Given the description of an element on the screen output the (x, y) to click on. 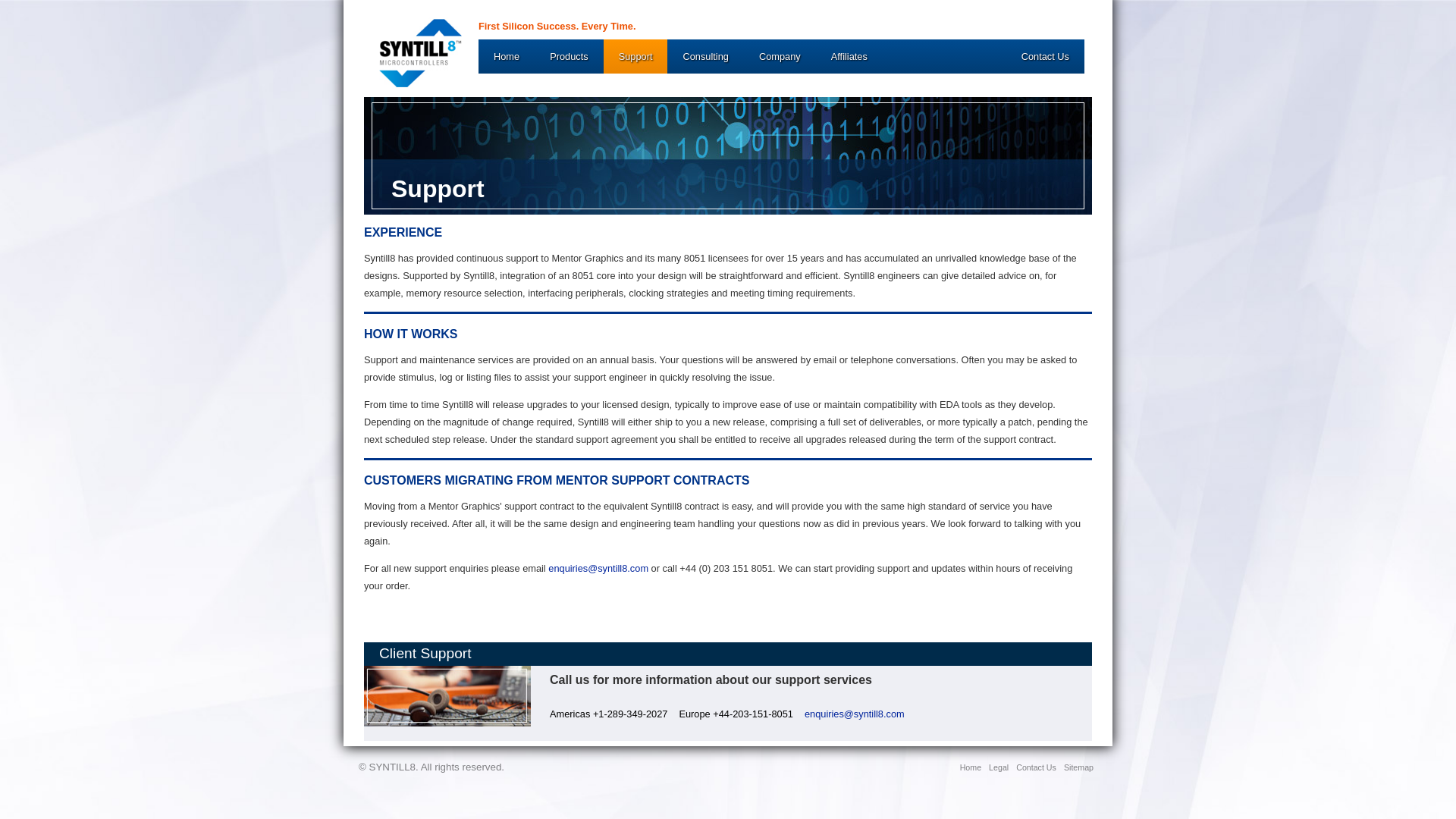
Support (636, 56)
Home (970, 767)
Contact Us (1036, 767)
Consulting (704, 56)
Affiliates (848, 56)
Products (569, 56)
Company (779, 56)
Sitemap (1078, 767)
Legal (998, 767)
Home (506, 56)
Contact Us (1045, 56)
